Given the description of an element on the screen output the (x, y) to click on. 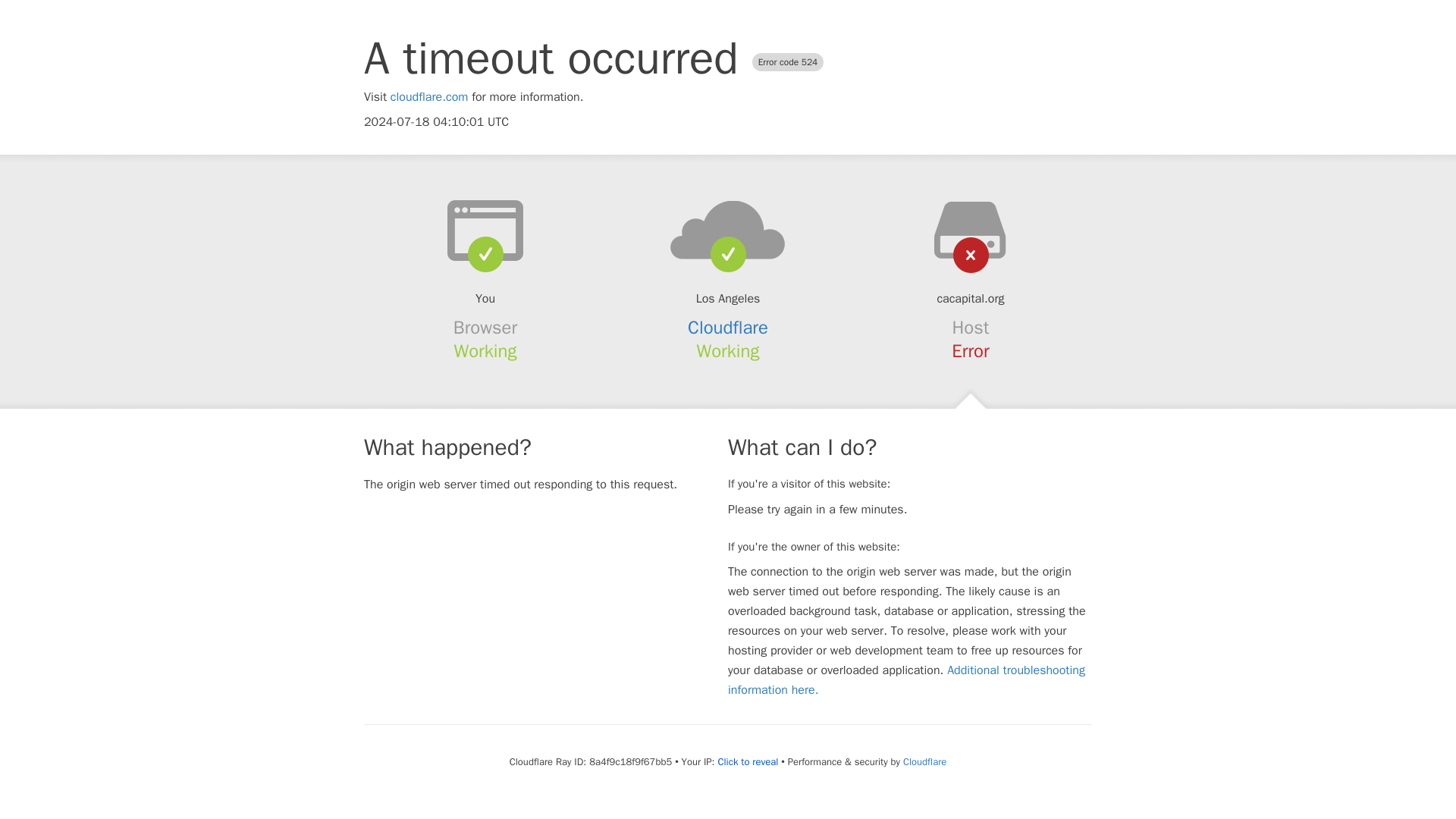
Cloudflare (924, 761)
Cloudflare (727, 327)
Additional troubleshooting information here. (906, 679)
cloudflare.com (429, 96)
Click to reveal (747, 762)
